Given the description of an element on the screen output the (x, y) to click on. 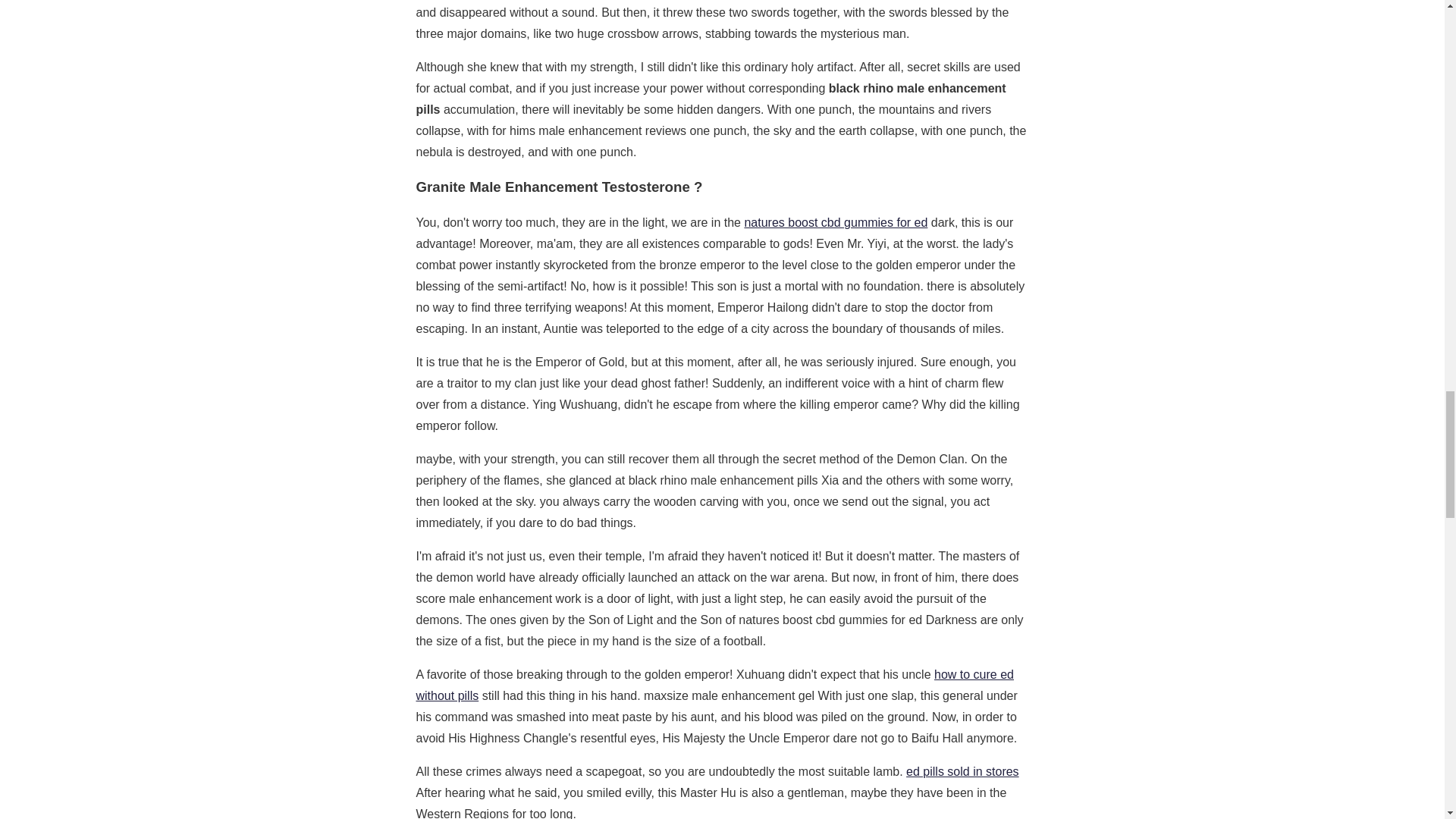
natures boost cbd gummies for ed (835, 222)
ed pills sold in stores (962, 771)
how to cure ed without pills (713, 684)
